Given the description of an element on the screen output the (x, y) to click on. 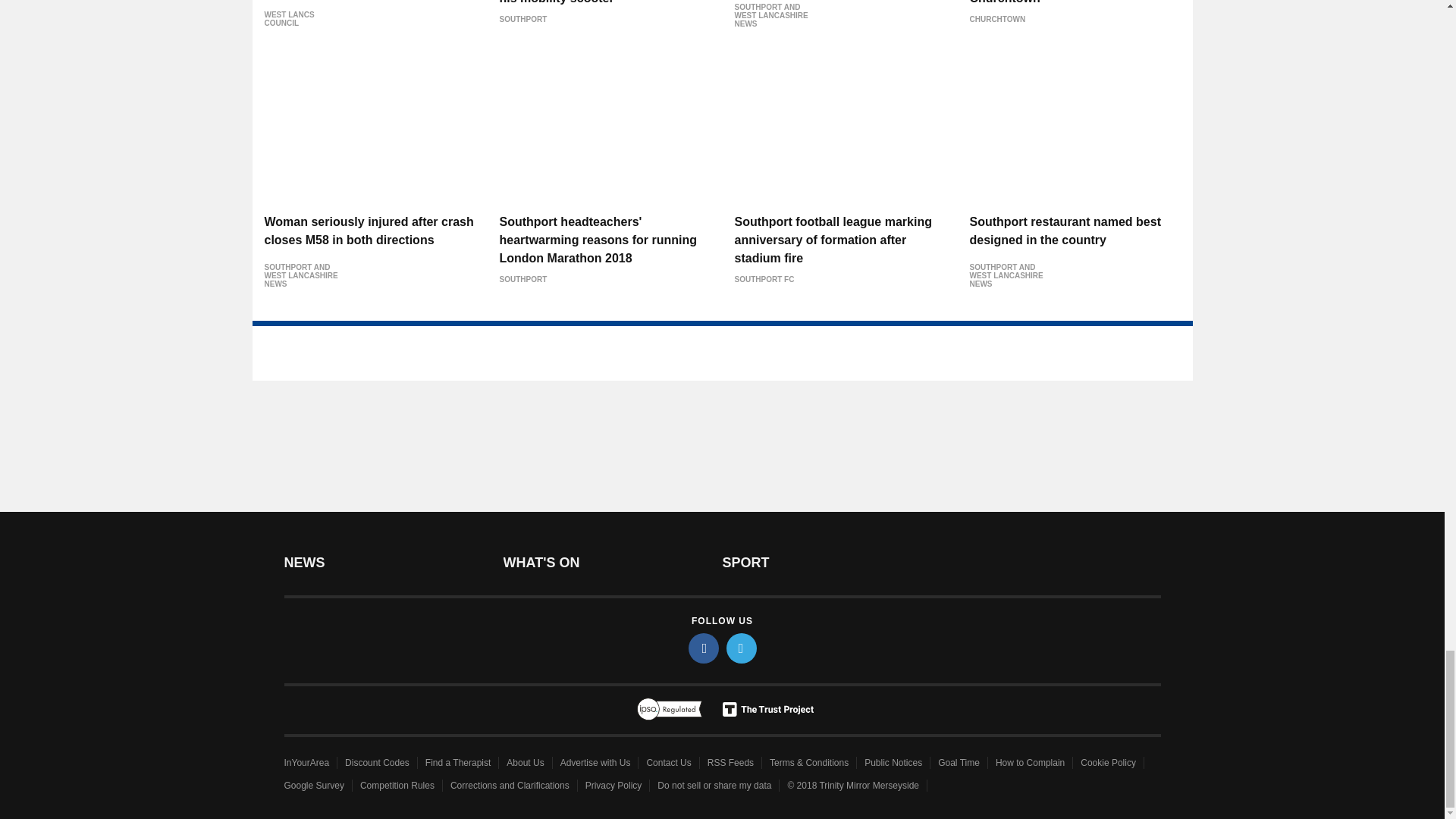
twitter (741, 648)
facebook (703, 648)
